Given the description of an element on the screen output the (x, y) to click on. 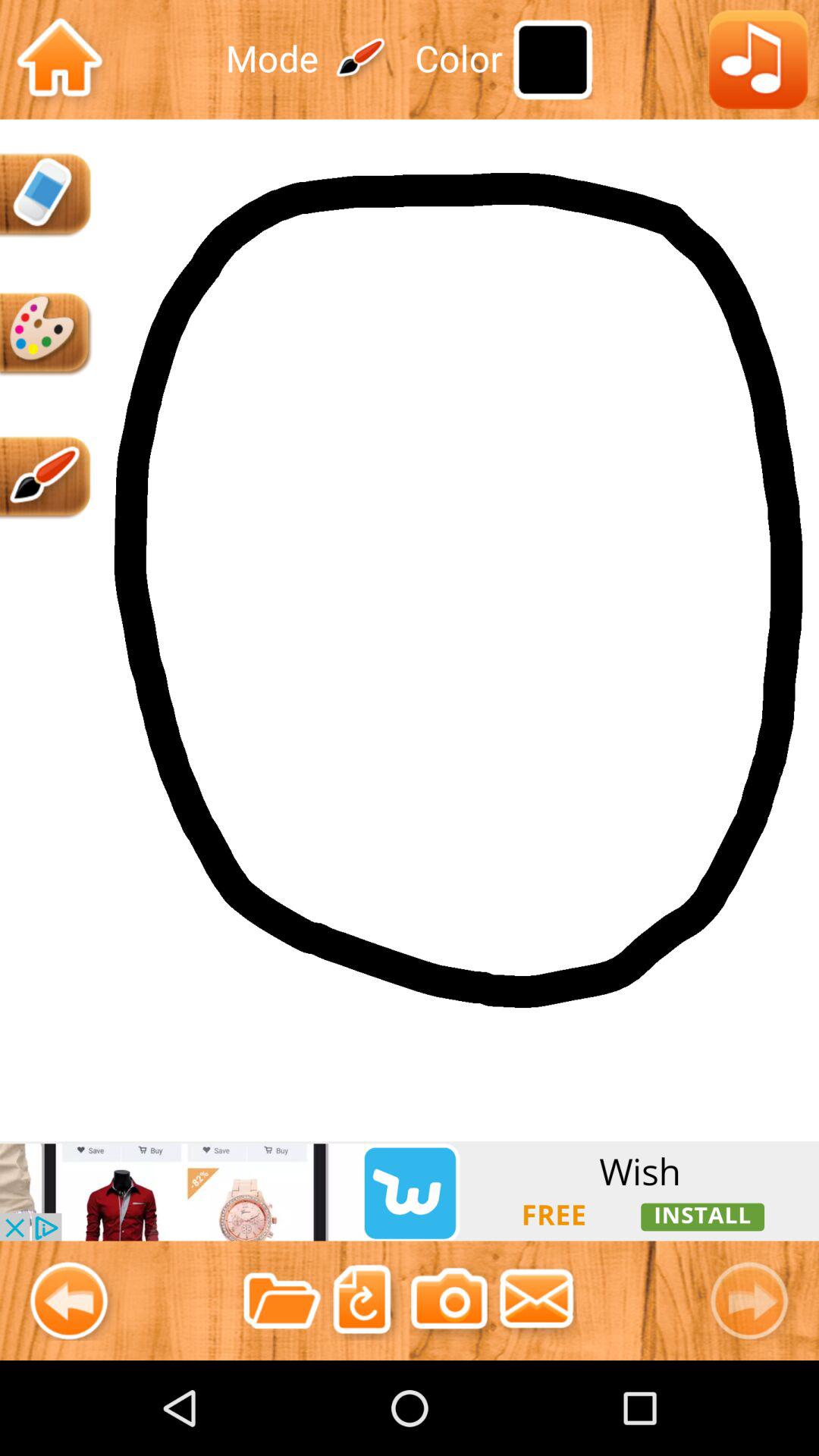
take photo (449, 1300)
